Given the description of an element on the screen output the (x, y) to click on. 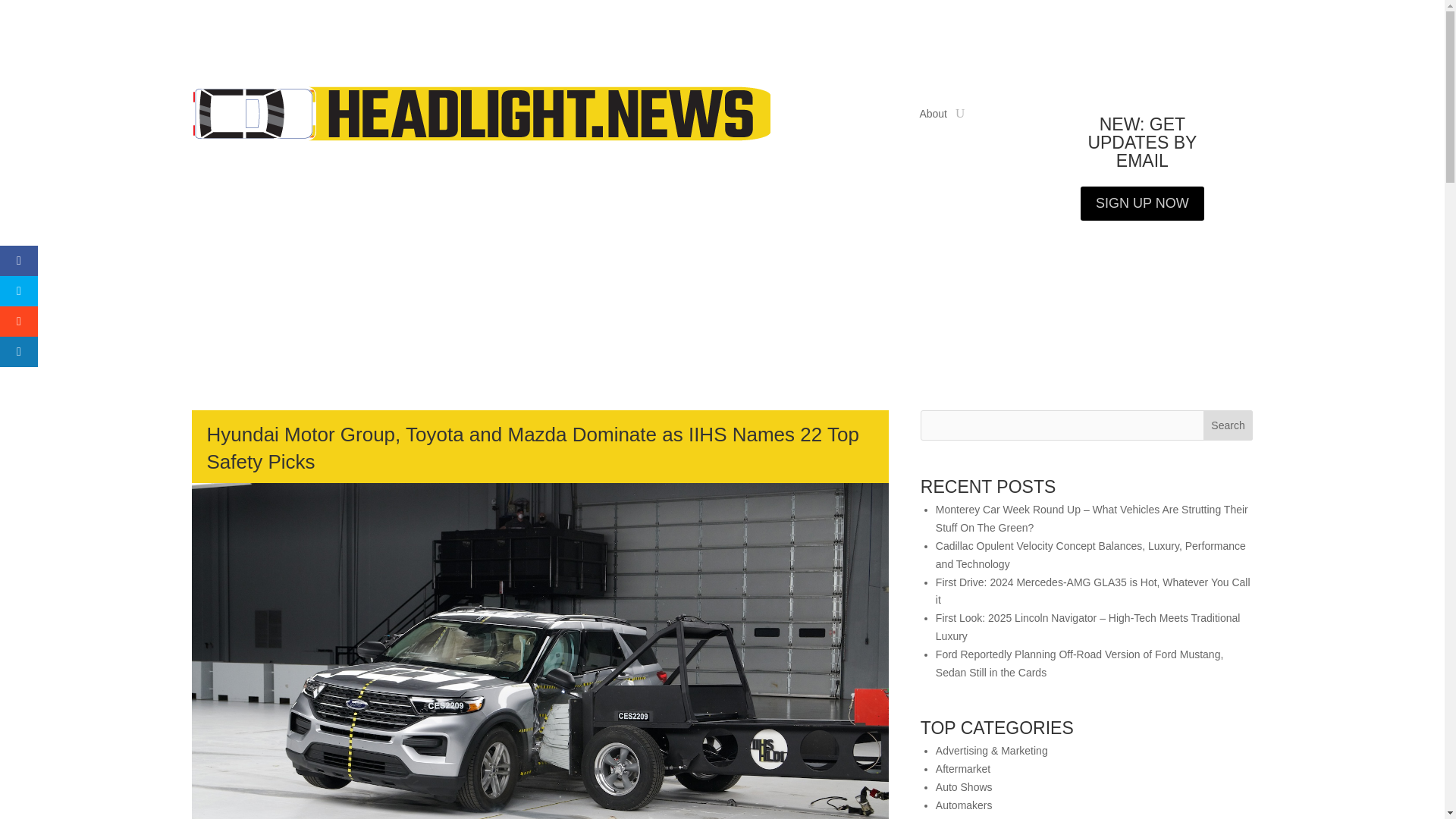
SIGN UP NOW (1142, 203)
Take Action Now! (346, 15)
Search (1228, 425)
